Given the description of an element on the screen output the (x, y) to click on. 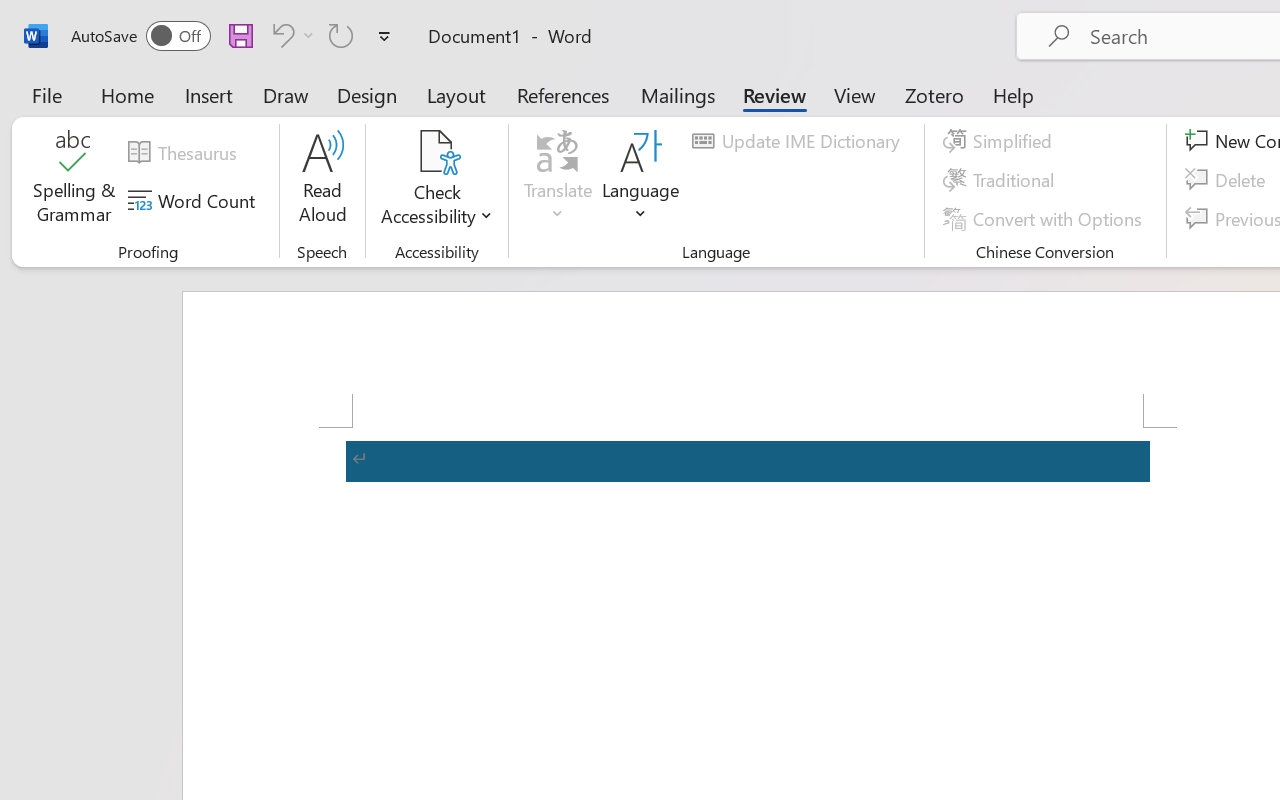
Language (641, 179)
Convert with Options... (1045, 218)
Simplified (1000, 141)
Undo Apply Quick Style Set (280, 35)
Read Aloud (322, 179)
Check Accessibility (436, 151)
Repeat Accessibility Checker (341, 35)
Traditional (1001, 179)
